Given the description of an element on the screen output the (x, y) to click on. 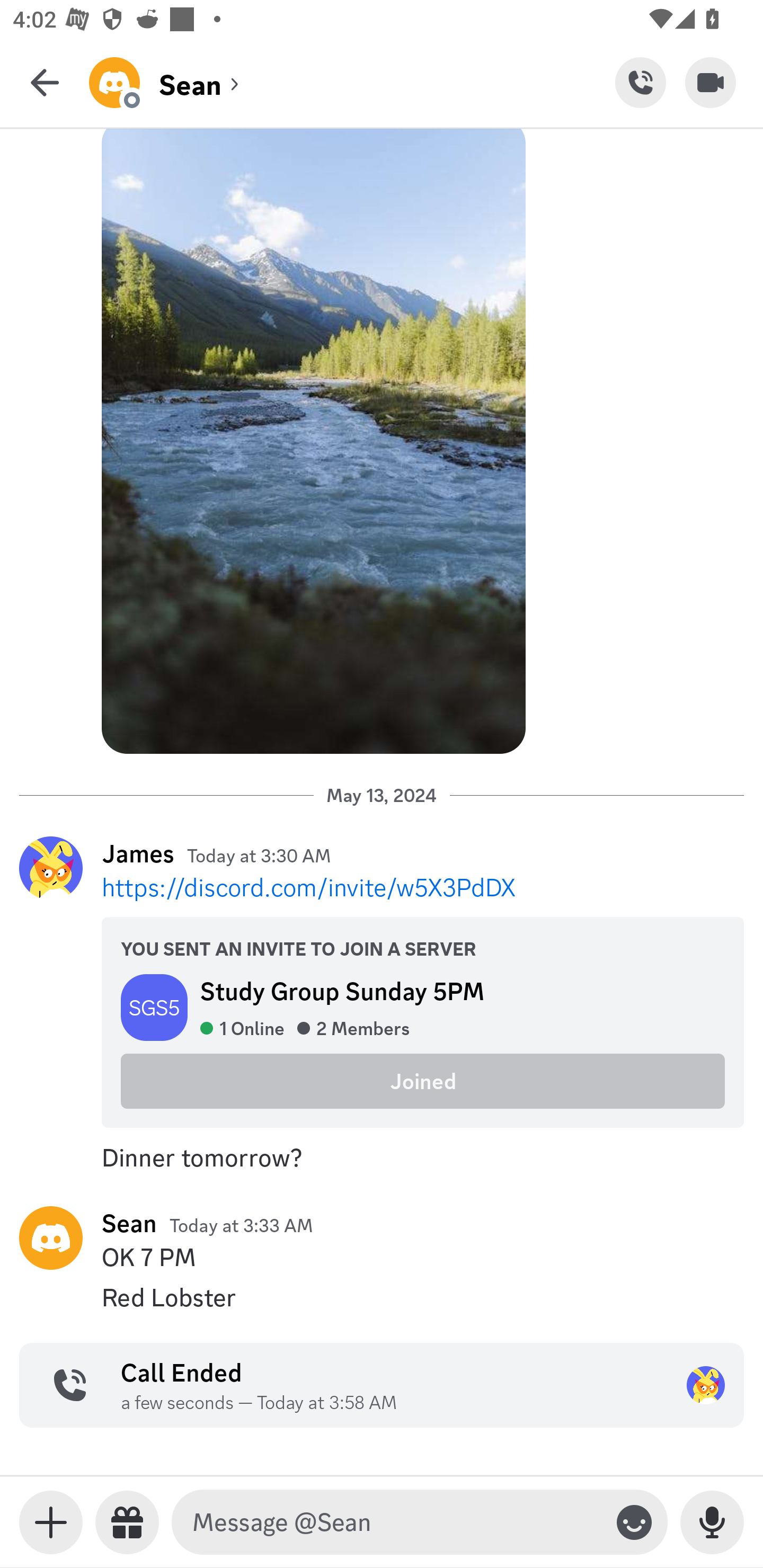
Sean (channel) Sean Sean (channel) (351, 82)
Back (44, 82)
Start Voice Call (640, 82)
Start Video Call (710, 82)
James (137, 852)
Joined (422, 1080)
ssseannn007., Dinner tomorrow? Dinner tomorrow? (381, 1156)
Sean (129, 1222)
yuxiang.007, Red Lobster Red Lobster (381, 1297)
Call Ended a few seconds — Today at 3:58 AM (381, 1384)
Toggle media keyboard (50, 1522)
Send a gift (126, 1522)
Record Voice Message (711, 1522)
Message @Sean (395, 1522)
Toggle emoji keyboard (634, 1522)
